Given the description of an element on the screen output the (x, y) to click on. 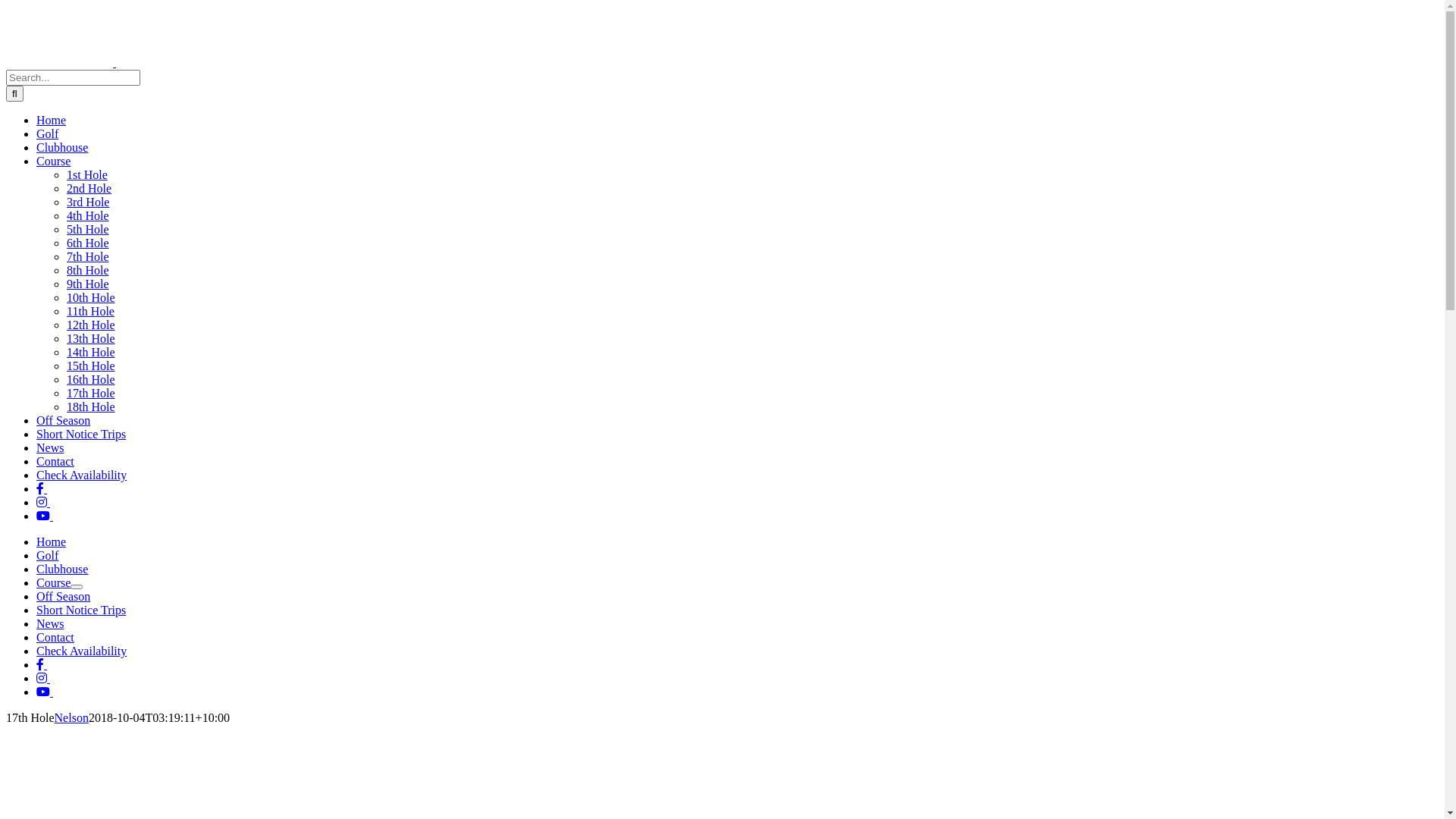
Skip to content Element type: text (5, 5)
Short Notice Trips Element type: text (80, 433)
9th Hole Element type: text (87, 283)
16th Hole Element type: text (90, 379)
  Element type: text (43, 501)
Contact Element type: text (55, 636)
12th Hole Element type: text (90, 324)
18th Hole Element type: text (90, 406)
6th Hole Element type: text (87, 242)
5th Hole Element type: text (87, 228)
Short Notice Trips Element type: text (80, 609)
11th Hole Element type: text (90, 310)
News Element type: text (49, 447)
15th Hole Element type: text (90, 365)
Golf Element type: text (47, 133)
  Element type: text (43, 677)
Golf Element type: text (47, 555)
13th Hole Element type: text (90, 338)
14th Hole Element type: text (90, 351)
7th Hole Element type: text (87, 256)
Check Availability Element type: text (81, 474)
Clubhouse Element type: text (61, 568)
Contact Element type: text (55, 461)
Off Season Element type: text (63, 420)
Course Element type: text (53, 160)
  Element type: text (41, 488)
Clubhouse Element type: text (61, 147)
Facebook Element type: hover (41, 664)
Check Availability Element type: text (81, 650)
1st Hole Element type: text (86, 174)
Nelson Element type: text (71, 717)
  Element type: text (44, 691)
Facebook Element type: hover (41, 488)
Course Element type: text (53, 582)
10th Hole Element type: text (90, 297)
17th Hole Element type: text (90, 392)
Home Element type: text (50, 541)
Off Season Element type: text (63, 595)
8th Hole Element type: text (87, 269)
2nd Hole Element type: text (88, 188)
Home Element type: text (50, 119)
News Element type: text (49, 623)
4th Hole Element type: text (87, 215)
  Element type: text (41, 664)
  Element type: text (44, 515)
3rd Hole Element type: text (87, 201)
